Given the description of an element on the screen output the (x, y) to click on. 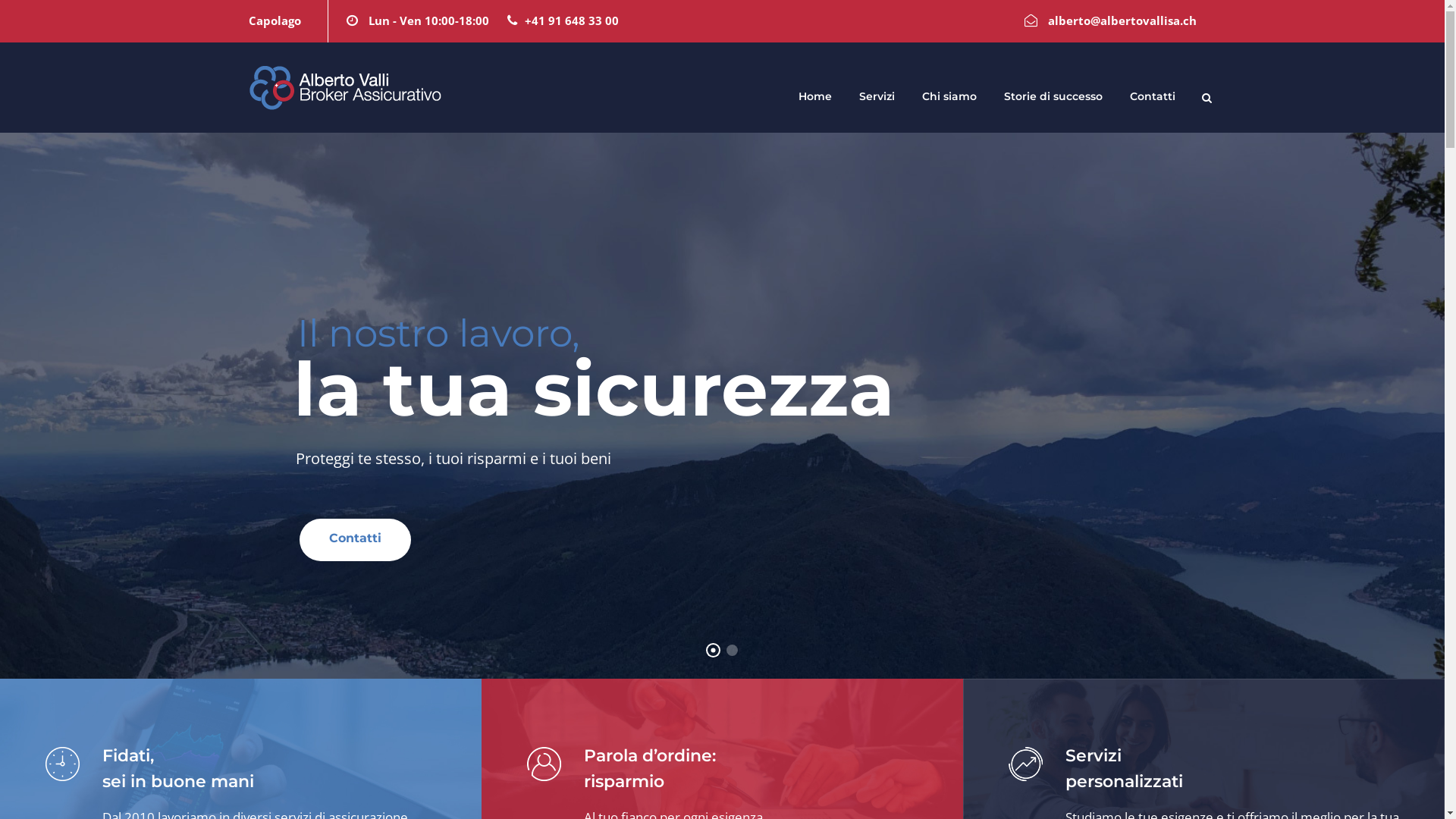
Contatti Element type: text (1152, 104)
Chi siamo Element type: text (949, 104)
hp2-icon-3 Element type: hover (1025, 763)
AV_logo_wh Element type: hover (344, 87)
Storie di successo Element type: text (1053, 104)
hp2-icon-1 Element type: hover (62, 763)
Servizi Element type: text (876, 104)
Home Element type: text (814, 104)
hp2-icon-2 Element type: hover (544, 763)
Contatti Element type: text (354, 539)
